Given the description of an element on the screen output the (x, y) to click on. 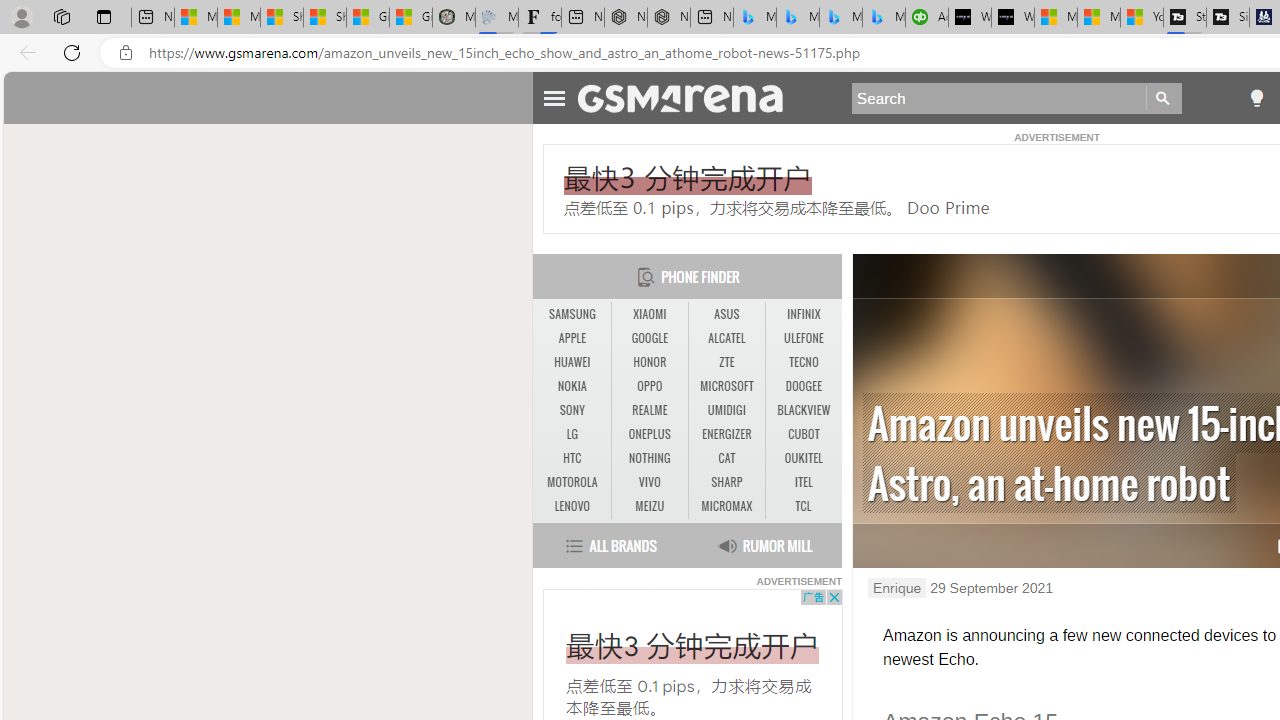
TECNO (803, 362)
CUBOT (803, 434)
OUKITEL (803, 458)
ITEL (803, 483)
SHARP (726, 483)
SAMSUNG (571, 313)
HTC (571, 457)
NOKIA (571, 386)
SONY (571, 411)
TECNO (803, 362)
HUAWEI (571, 362)
ITEL (803, 482)
MICROSOFT (726, 385)
